Given the description of an element on the screen output the (x, y) to click on. 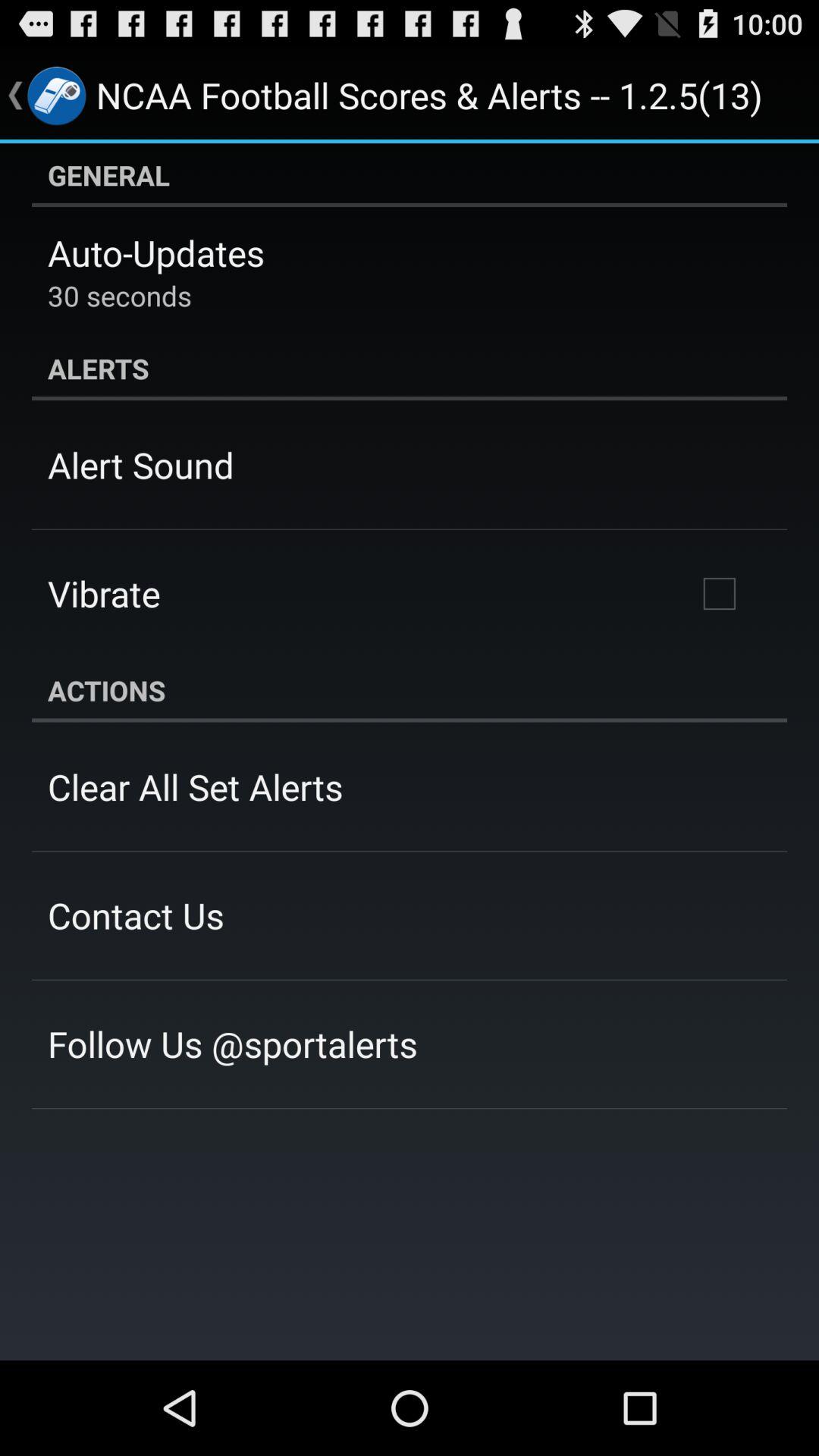
click the icon below the general icon (155, 252)
